Given the description of an element on the screen output the (x, y) to click on. 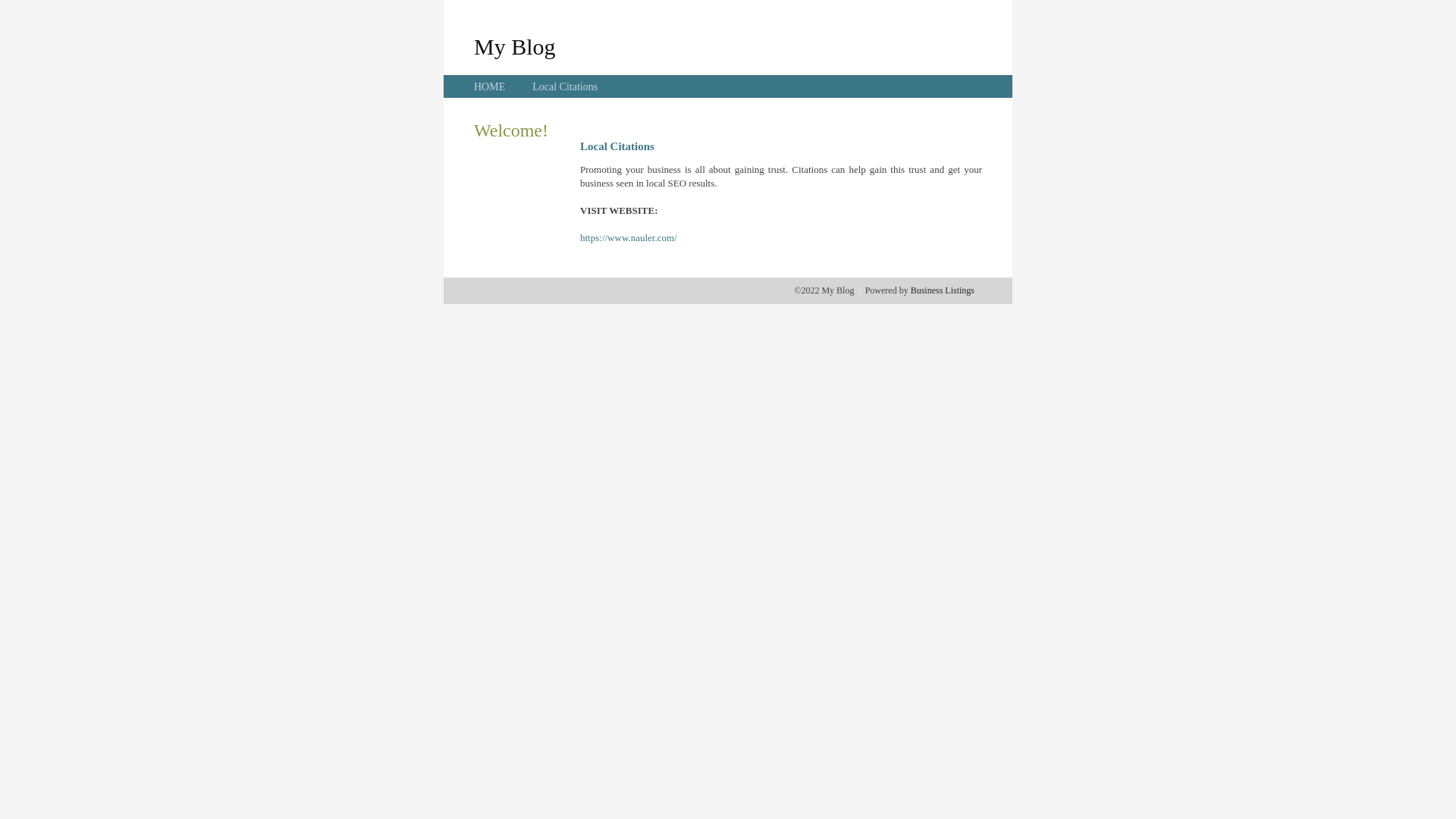
HOME Element type: text (489, 86)
My Blog Element type: text (514, 46)
Business Listings Element type: text (942, 290)
https://www.nauler.com/ Element type: text (628, 237)
Local Citations Element type: text (564, 86)
